Given the description of an element on the screen output the (x, y) to click on. 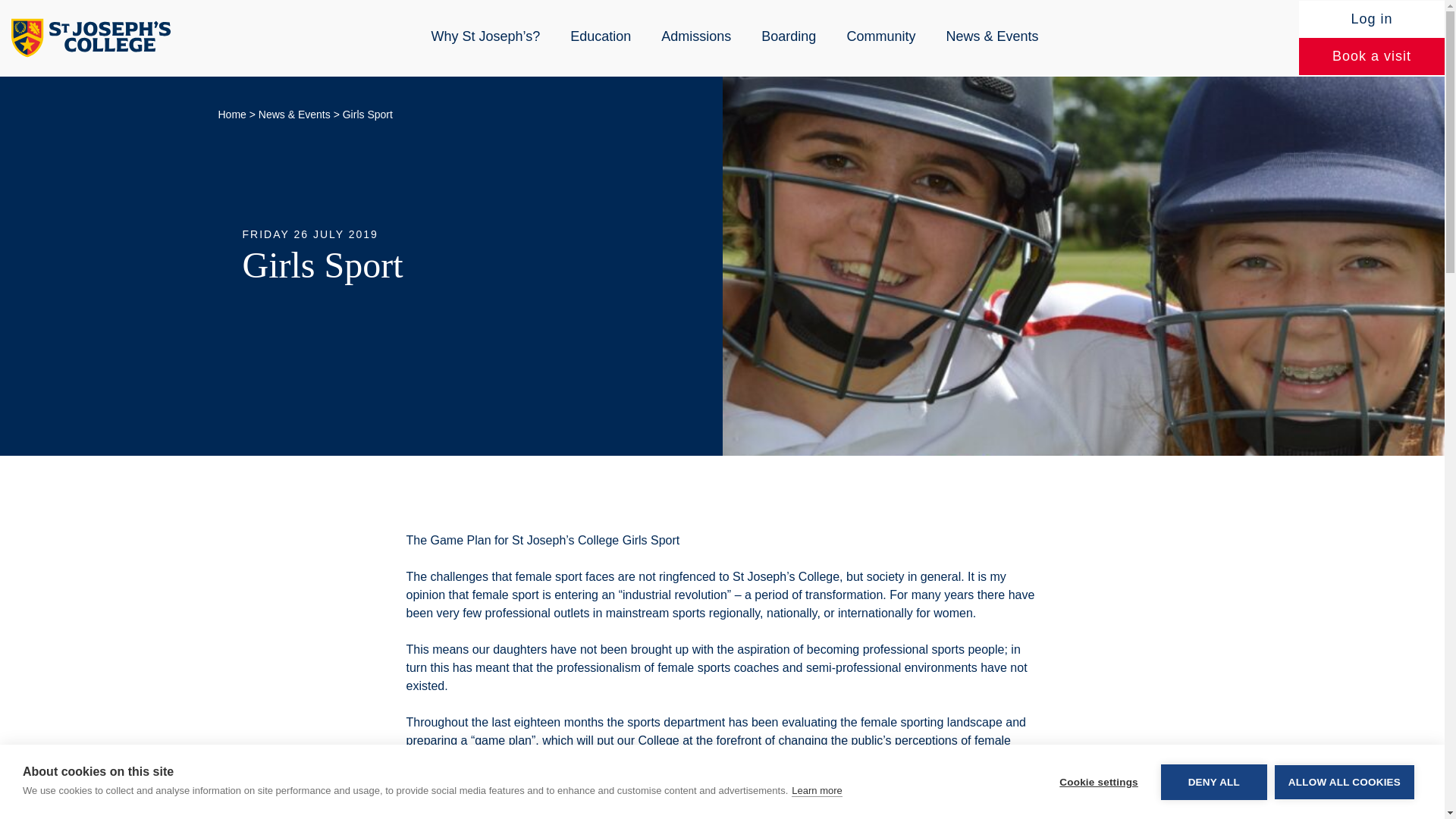
Education (600, 36)
Cookie settings (1098, 807)
ALLOW ALL COOKIES (1344, 792)
Community (880, 36)
DENY ALL (1213, 800)
Boarding (788, 36)
Admissions (695, 36)
